Given the description of an element on the screen output the (x, y) to click on. 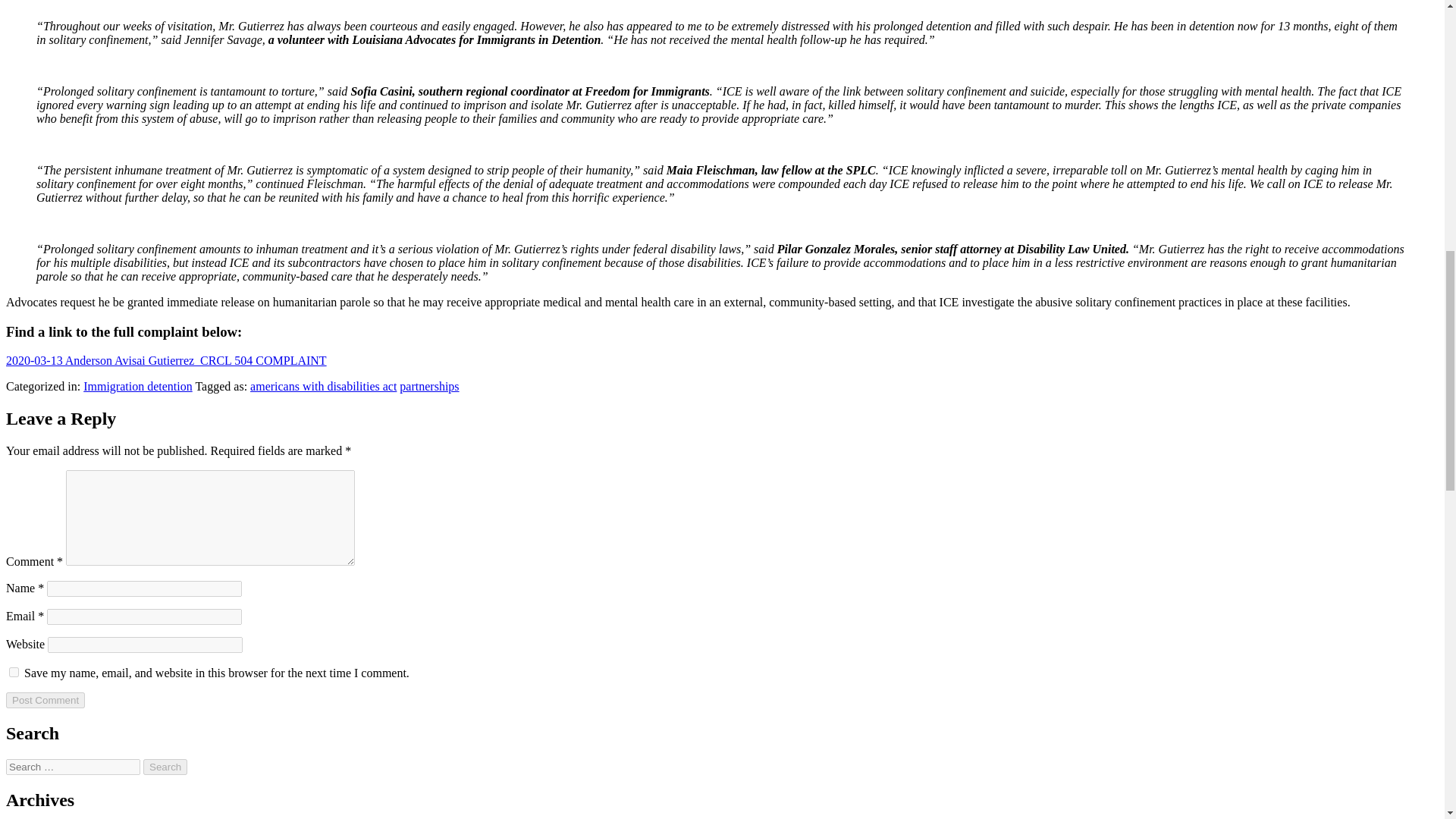
Immigration detention (137, 386)
Post Comment (44, 700)
yes (13, 672)
partnerships (428, 386)
americans with disabilities act (323, 386)
Search (164, 766)
Search (164, 766)
